Given the description of an element on the screen output the (x, y) to click on. 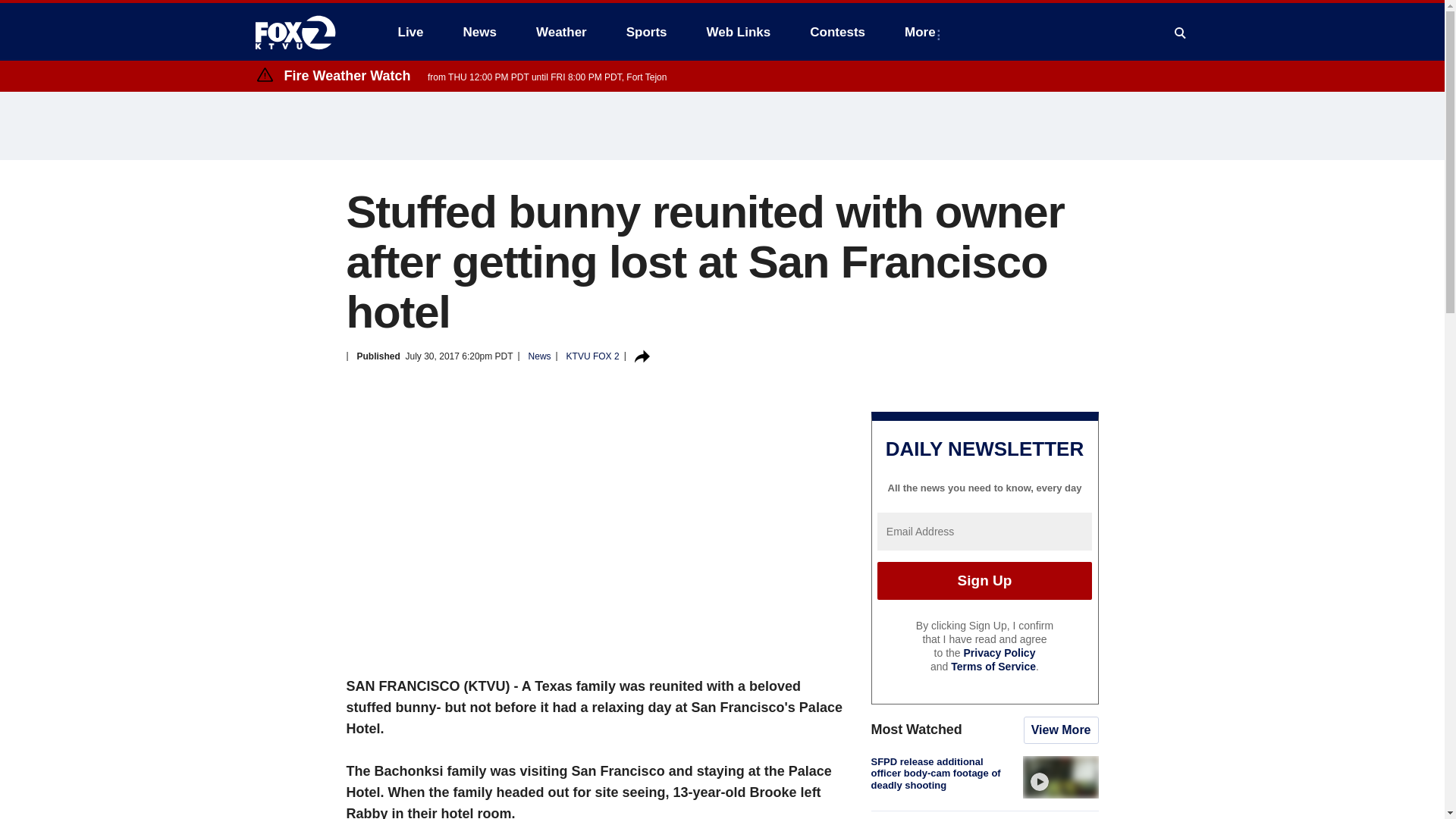
Web Links (738, 32)
Sign Up (984, 580)
Sports (646, 32)
Live (410, 32)
Weather (561, 32)
News (479, 32)
Contests (837, 32)
More (922, 32)
